Given the description of an element on the screen output the (x, y) to click on. 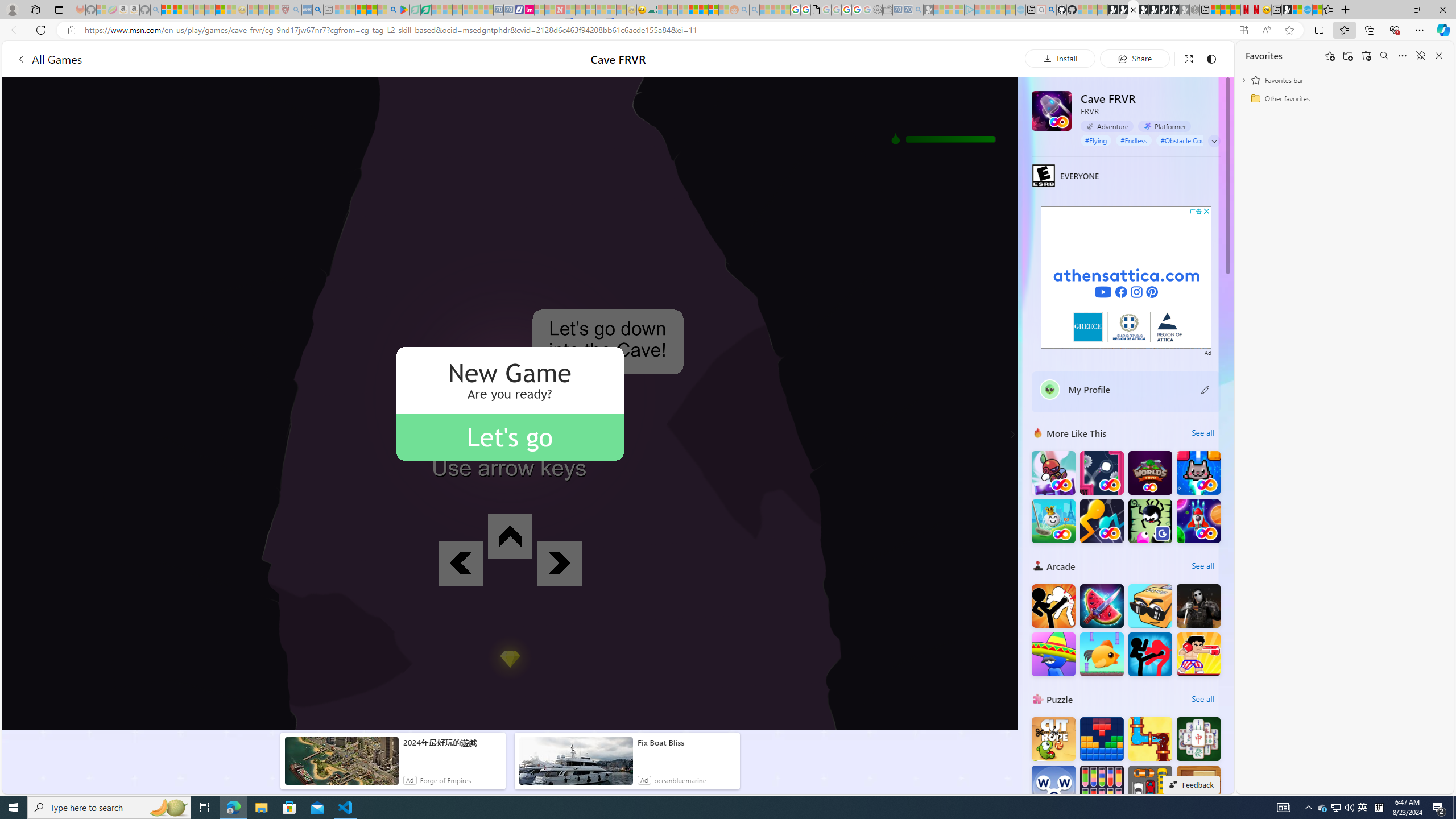
Parking Block (1149, 787)
Close favorites (1439, 55)
Terms of Use Agreement - Sleeping (414, 9)
Restore deleted favorites (1366, 55)
Settings - Sleeping (876, 9)
